Given the description of an element on the screen output the (x, y) to click on. 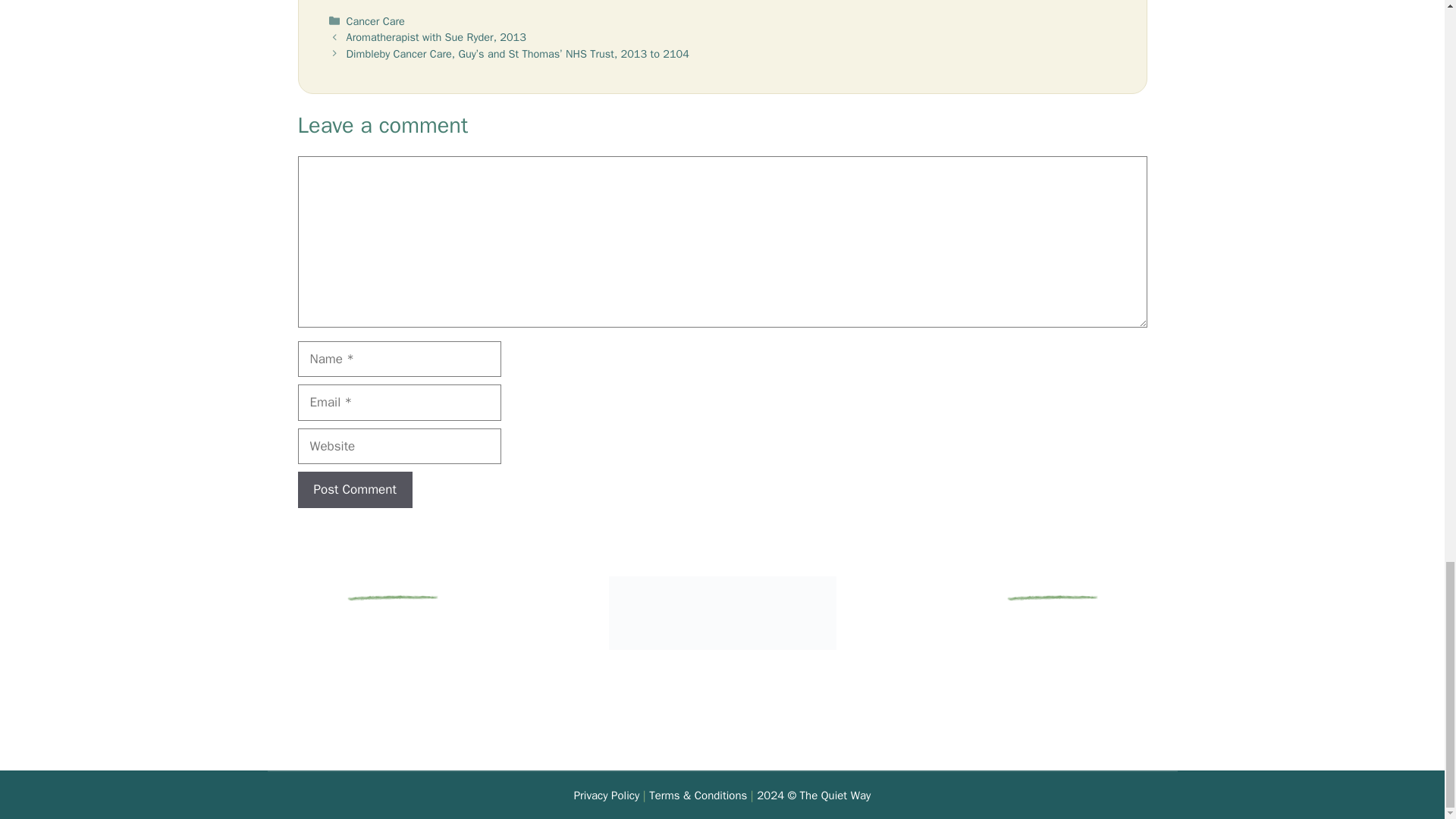
Aromatherapist with Sue Ryder, 2013 (435, 37)
Yin Yoga (392, 672)
Post Comment (354, 489)
Privacy Policy (606, 795)
Offerings (391, 710)
Contact (392, 729)
Cancer Care (375, 20)
Therapies (392, 652)
About Jayne (392, 691)
Post Comment (354, 489)
Home (392, 633)
